Given the description of an element on the screen output the (x, y) to click on. 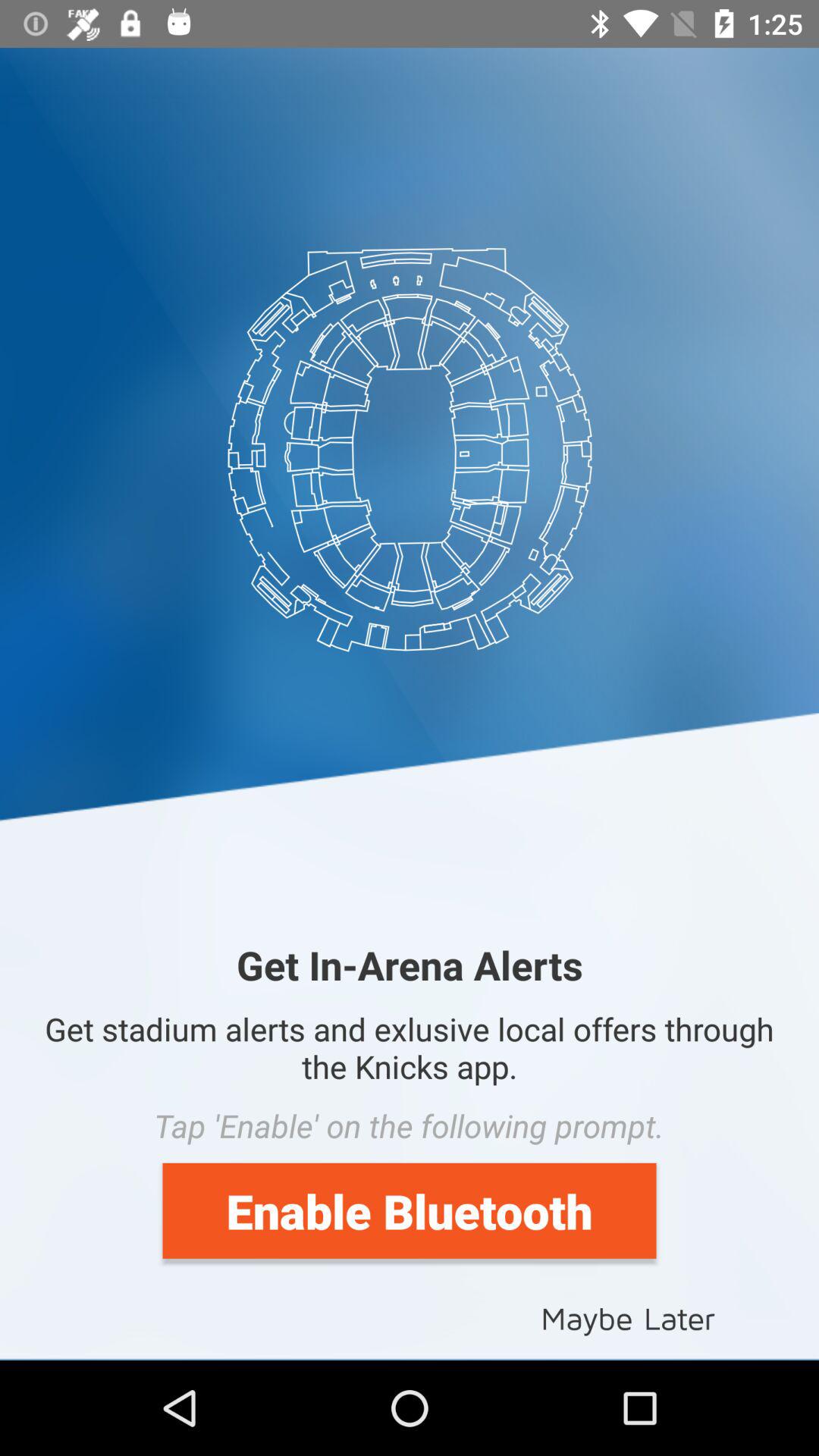
launch enable bluetooth (409, 1210)
